Given the description of an element on the screen output the (x, y) to click on. 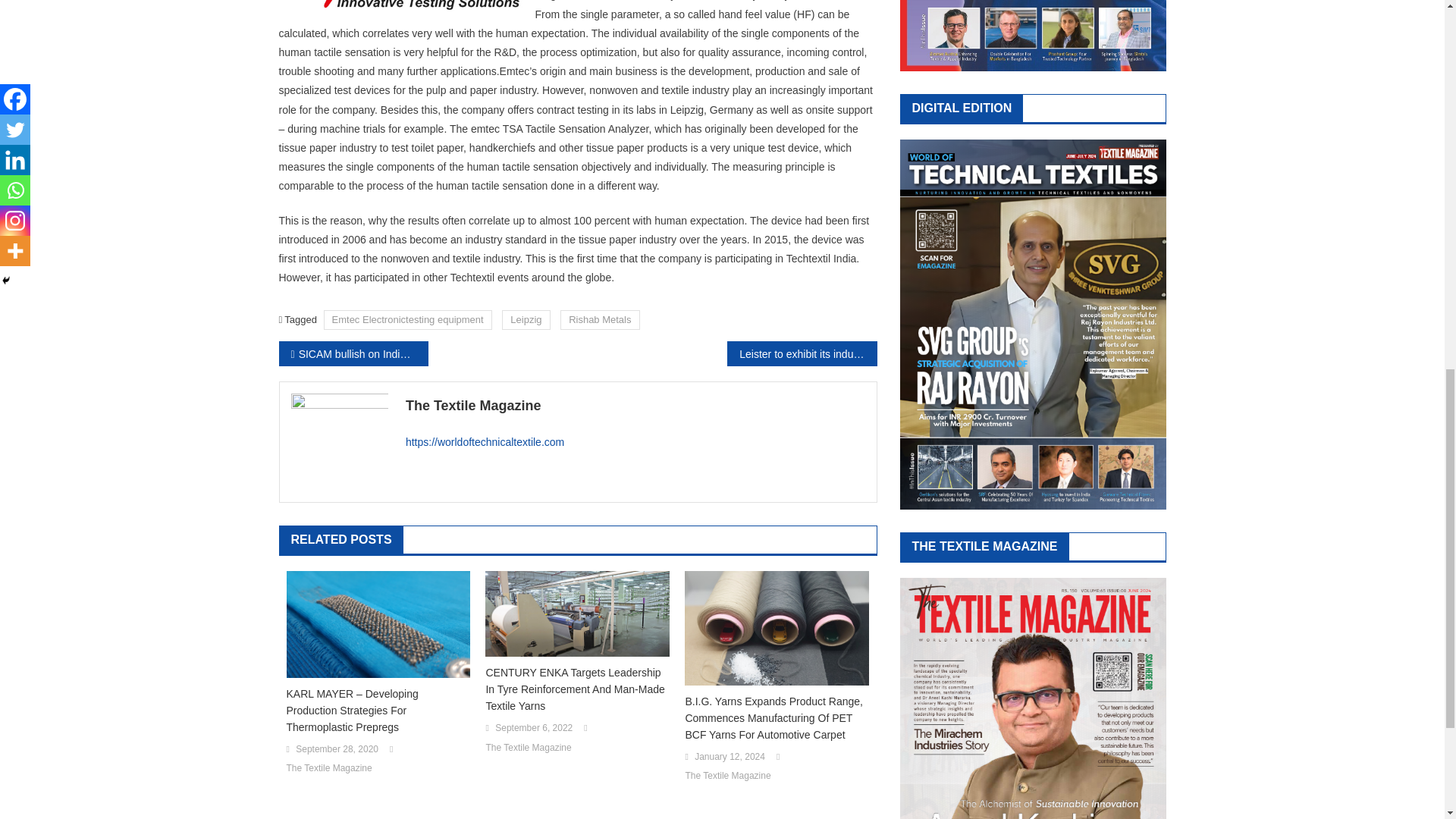
SICAM bullish on Indian market for its nonwoven solutions (353, 353)
Emtec Electronictesting equipment (407, 319)
Leipzig (526, 319)
Rishab Metals (599, 319)
